Given the description of an element on the screen output the (x, y) to click on. 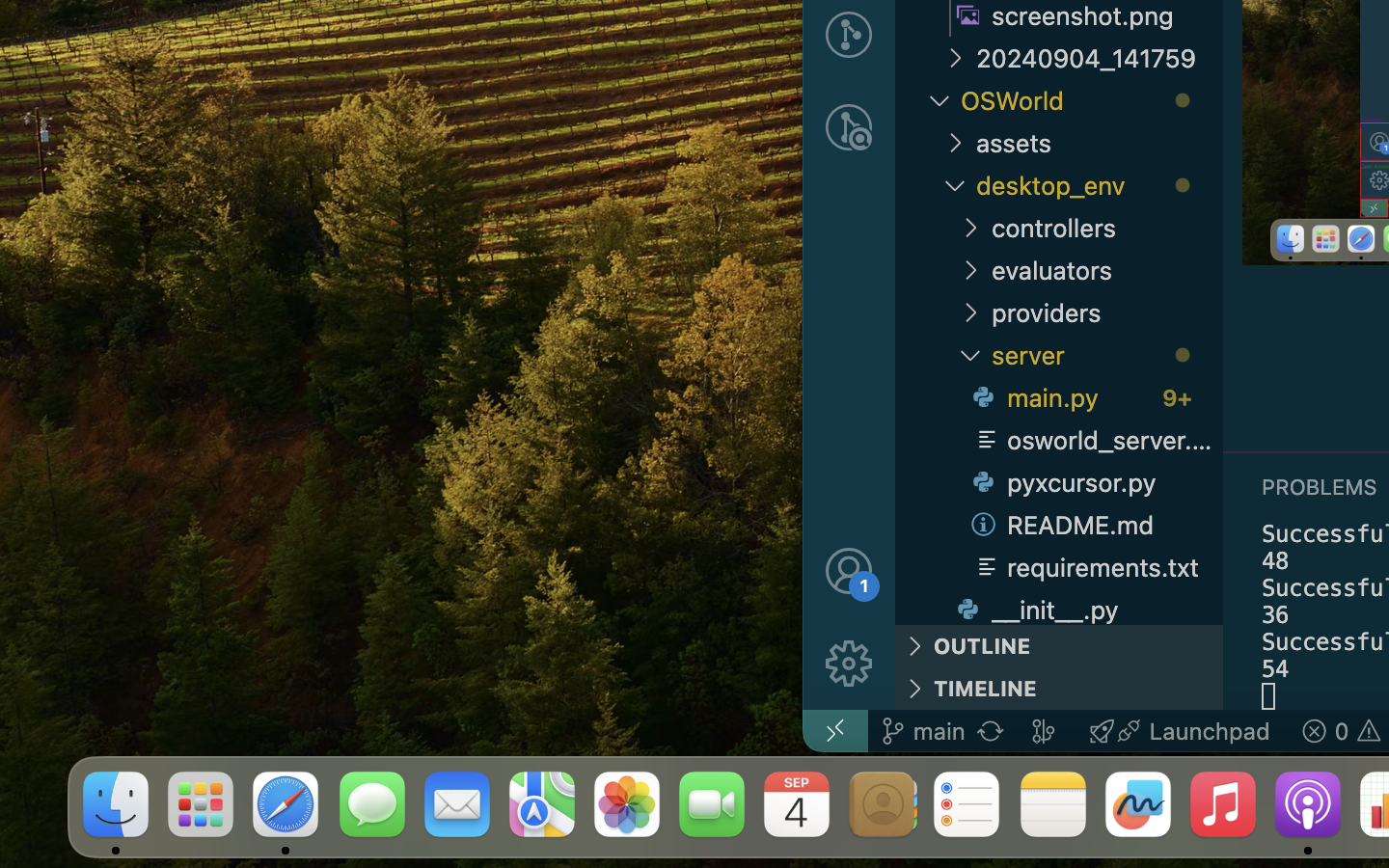
server  Element type: AXGroup (1107, 354)
 Element type: AXGroup (848, 570)
20240904_141759 Element type: AXGroup (1099, 57)
 Element type: AXGroup (848, 663)
desktop_env  Element type: AXGroup (1099, 184)
